Given the description of an element on the screen output the (x, y) to click on. 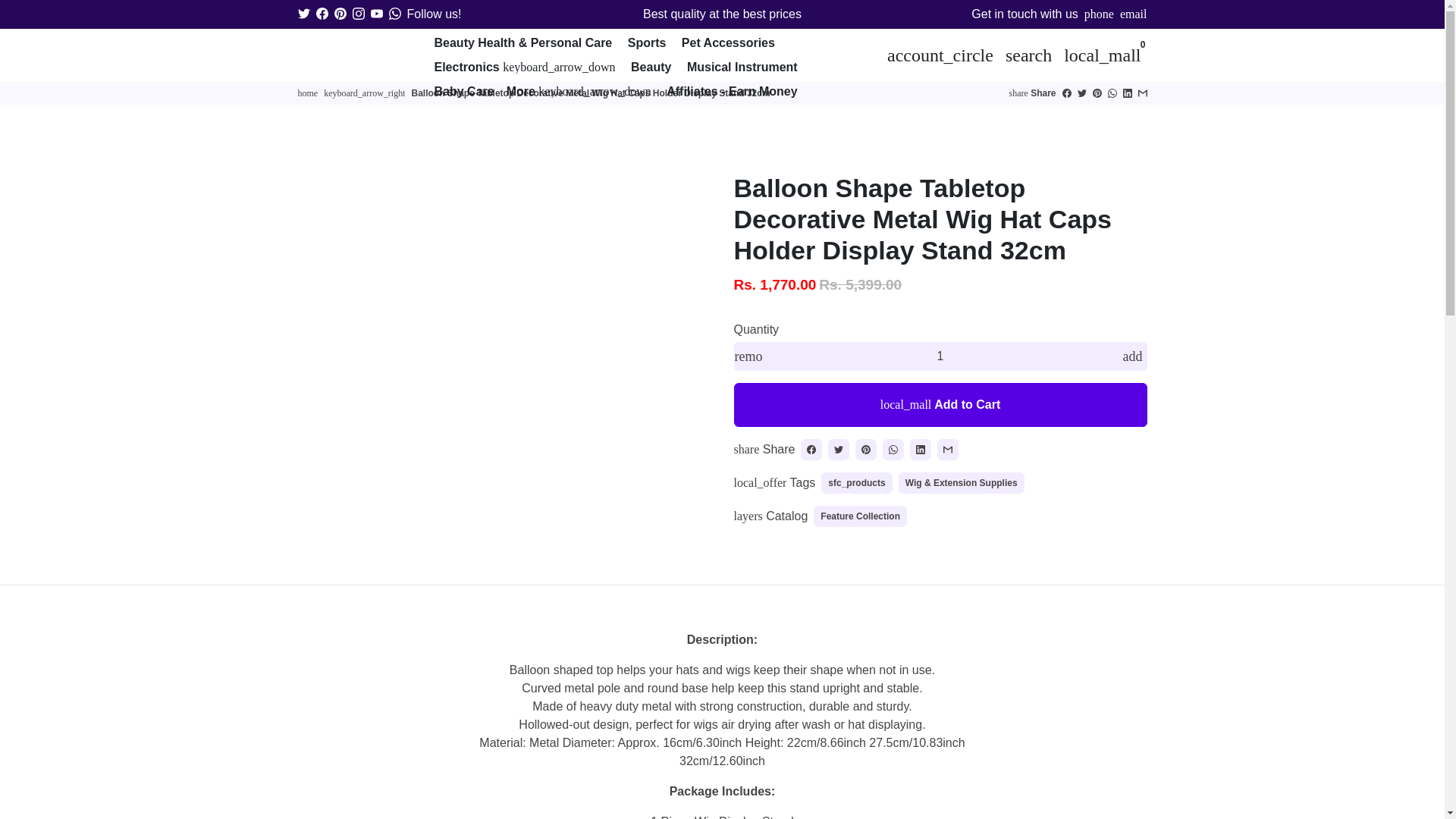
ikabestbuy on Instagram (358, 13)
ikabestbuy on Youtube (375, 13)
1 (940, 356)
ikabestbuy on Facebook (321, 13)
ikabestbuy on Twitter (302, 13)
ikabestbuy on Pinterest (339, 13)
